Given the description of an element on the screen output the (x, y) to click on. 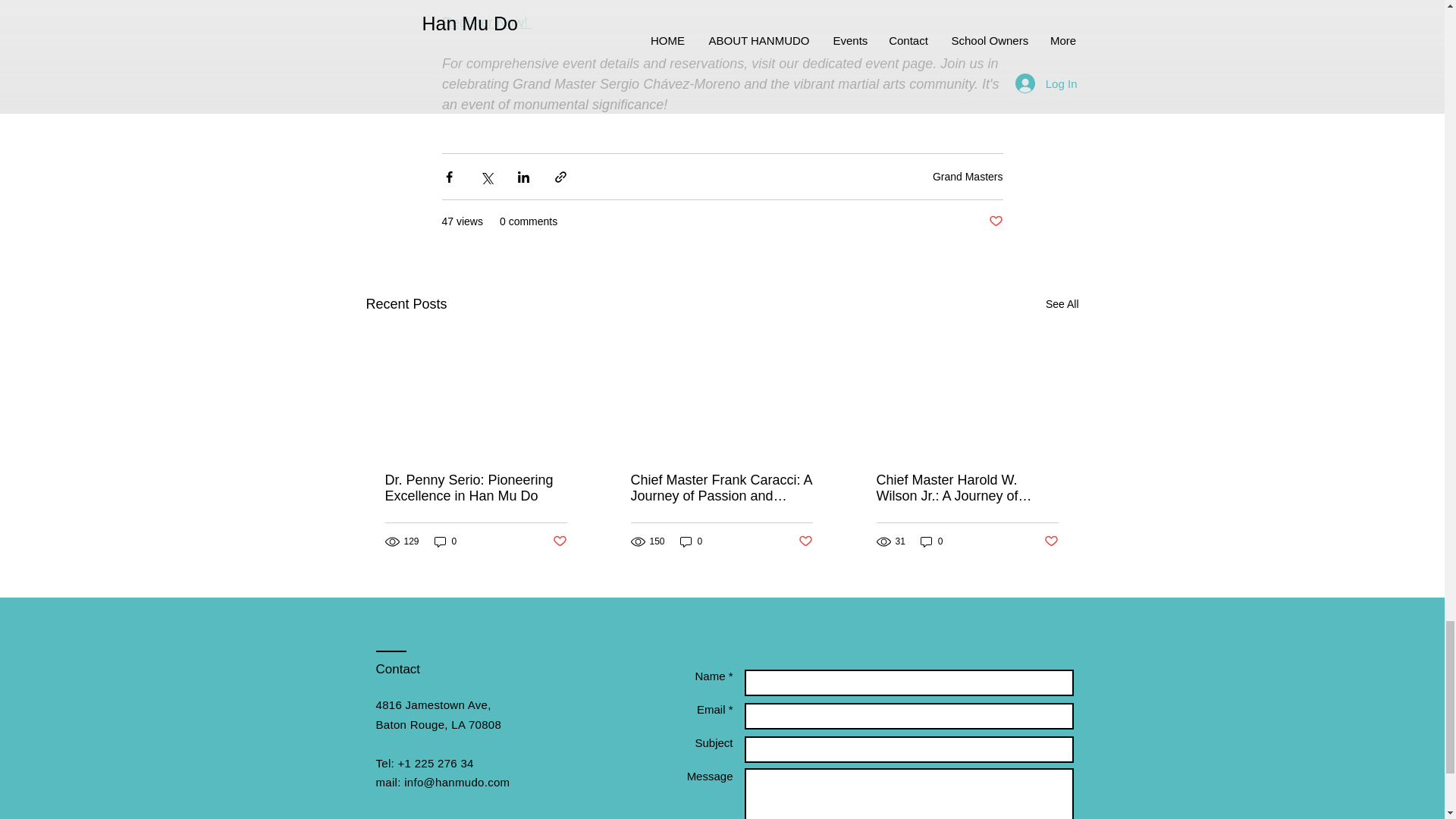
0 (931, 541)
Post not marked as liked (558, 541)
Post not marked as liked (1050, 541)
0 (445, 541)
Post not marked as liked (804, 541)
Grand Masters (968, 176)
Post not marked as liked (995, 221)
Register Now!  (486, 22)
Dr. Penny Serio: Pioneering Excellence in Han Mu Do (476, 488)
0 (691, 541)
See All (1061, 304)
